Given the description of an element on the screen output the (x, y) to click on. 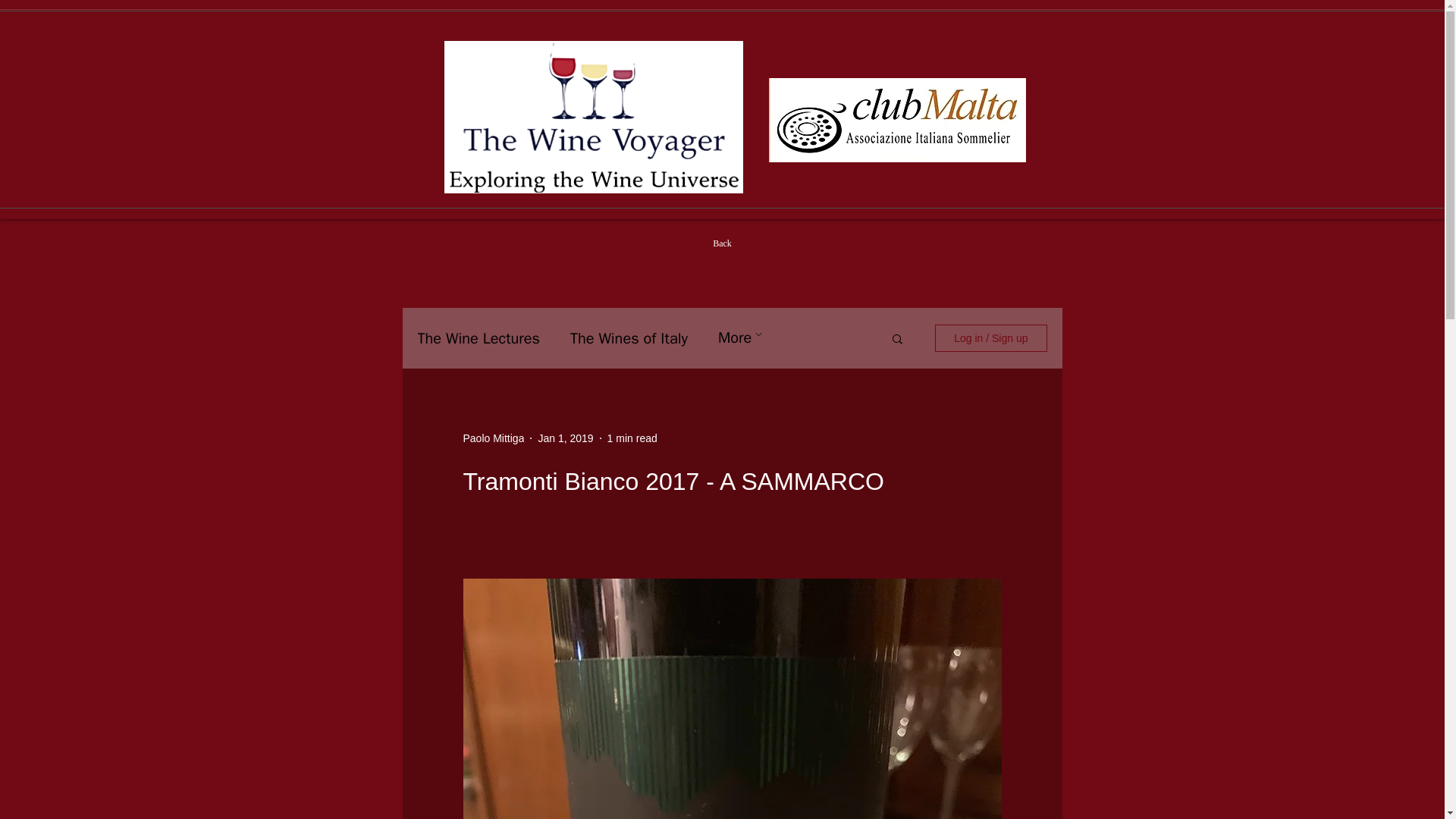
Paolo Mittiga (493, 438)
1 min read (632, 438)
Jan 1, 2019 (564, 438)
Back (722, 243)
The Wines of Italy (628, 337)
Wine Voyager (593, 116)
Paolo Mittiga (493, 438)
The Wine Lectures (477, 337)
